Given the description of an element on the screen output the (x, y) to click on. 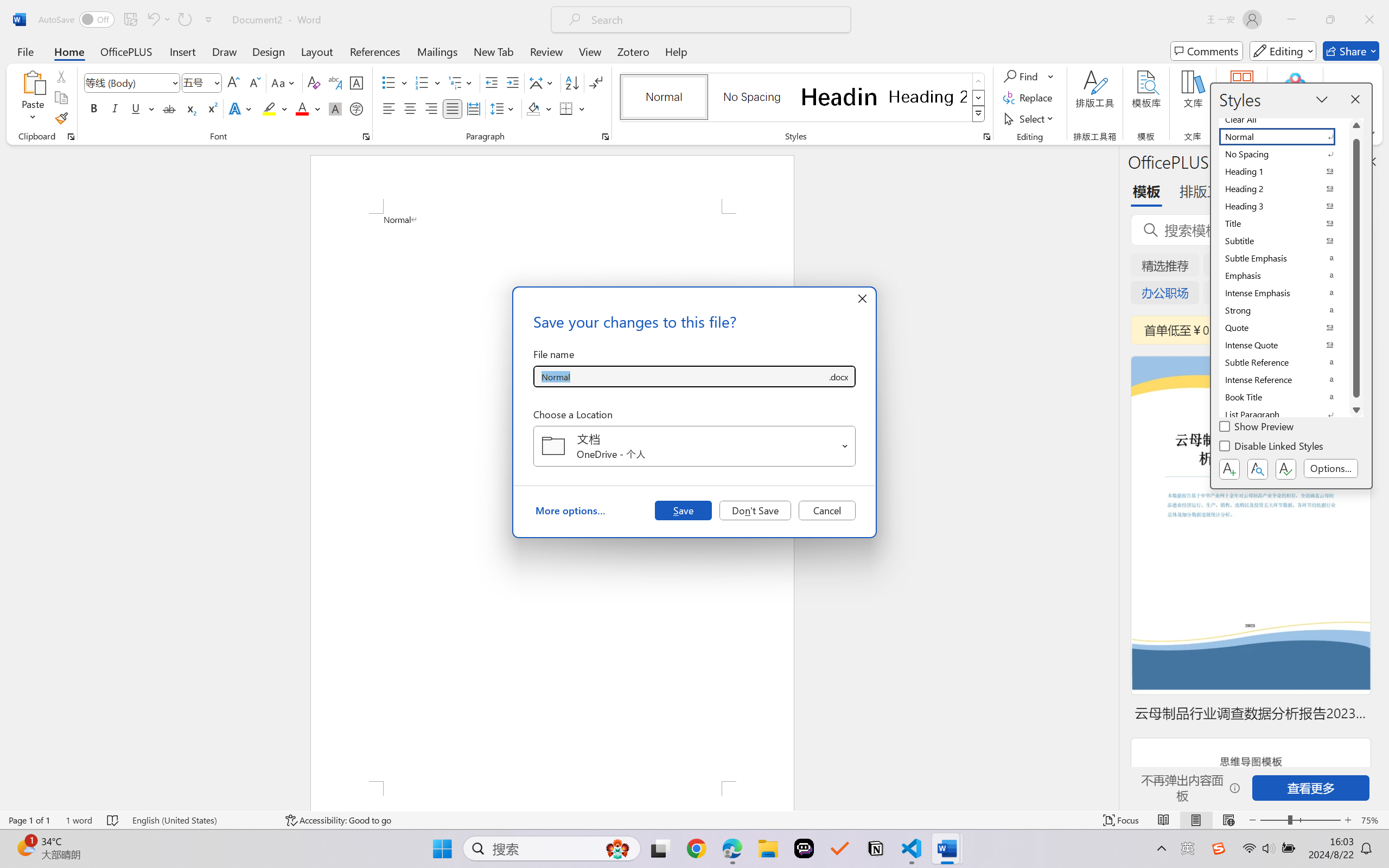
Review (546, 51)
Sort... (571, 82)
File name (680, 376)
Font (126, 82)
Office Clipboard... (70, 136)
Heading 1 (839, 96)
Paragraph... (605, 136)
Share (1350, 51)
Bullets (388, 82)
